Given the description of an element on the screen output the (x, y) to click on. 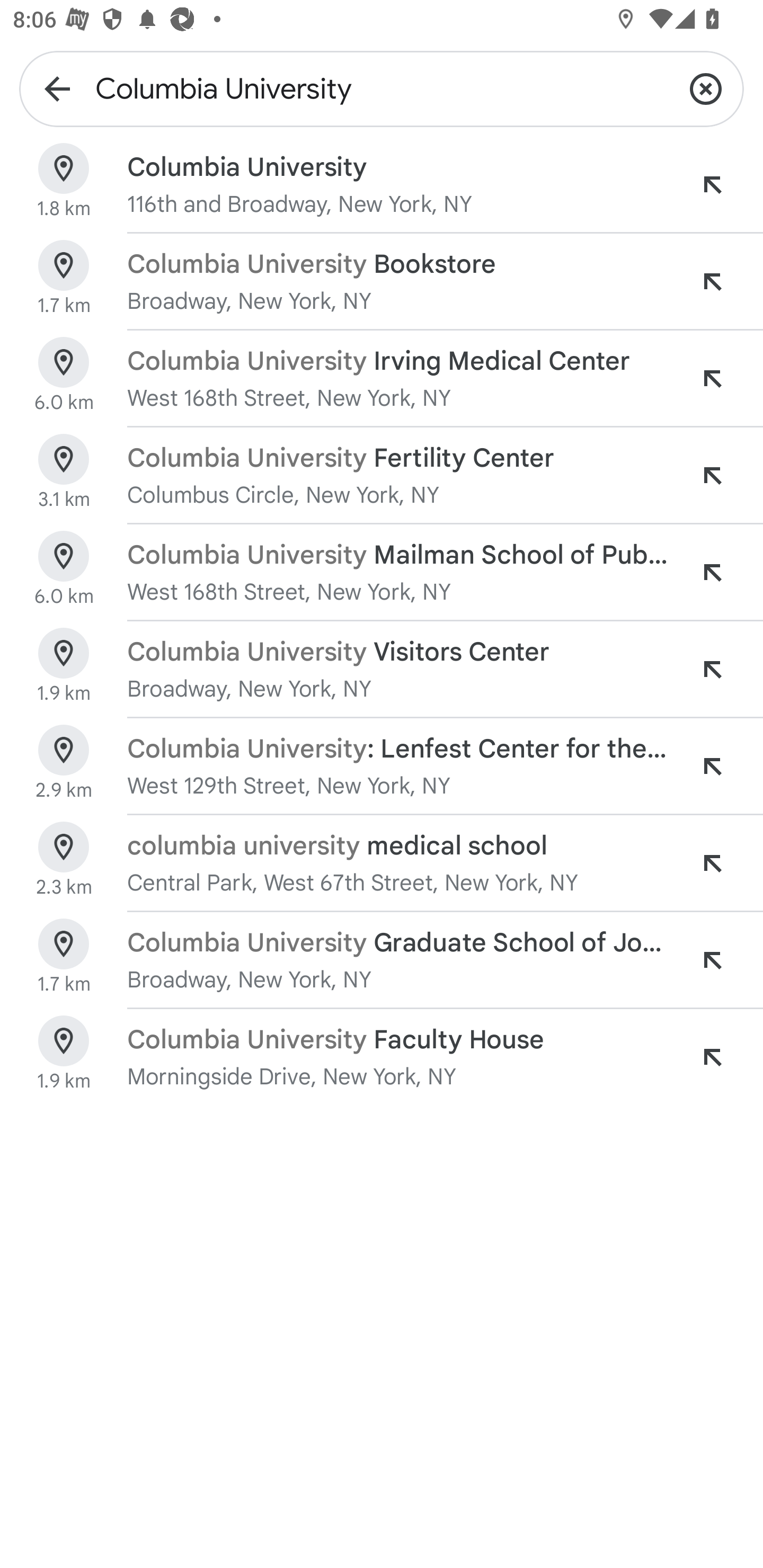
Navigate up (57, 88)
Columbia University (381, 88)
Clear (705, 88)
